Given the description of an element on the screen output the (x, y) to click on. 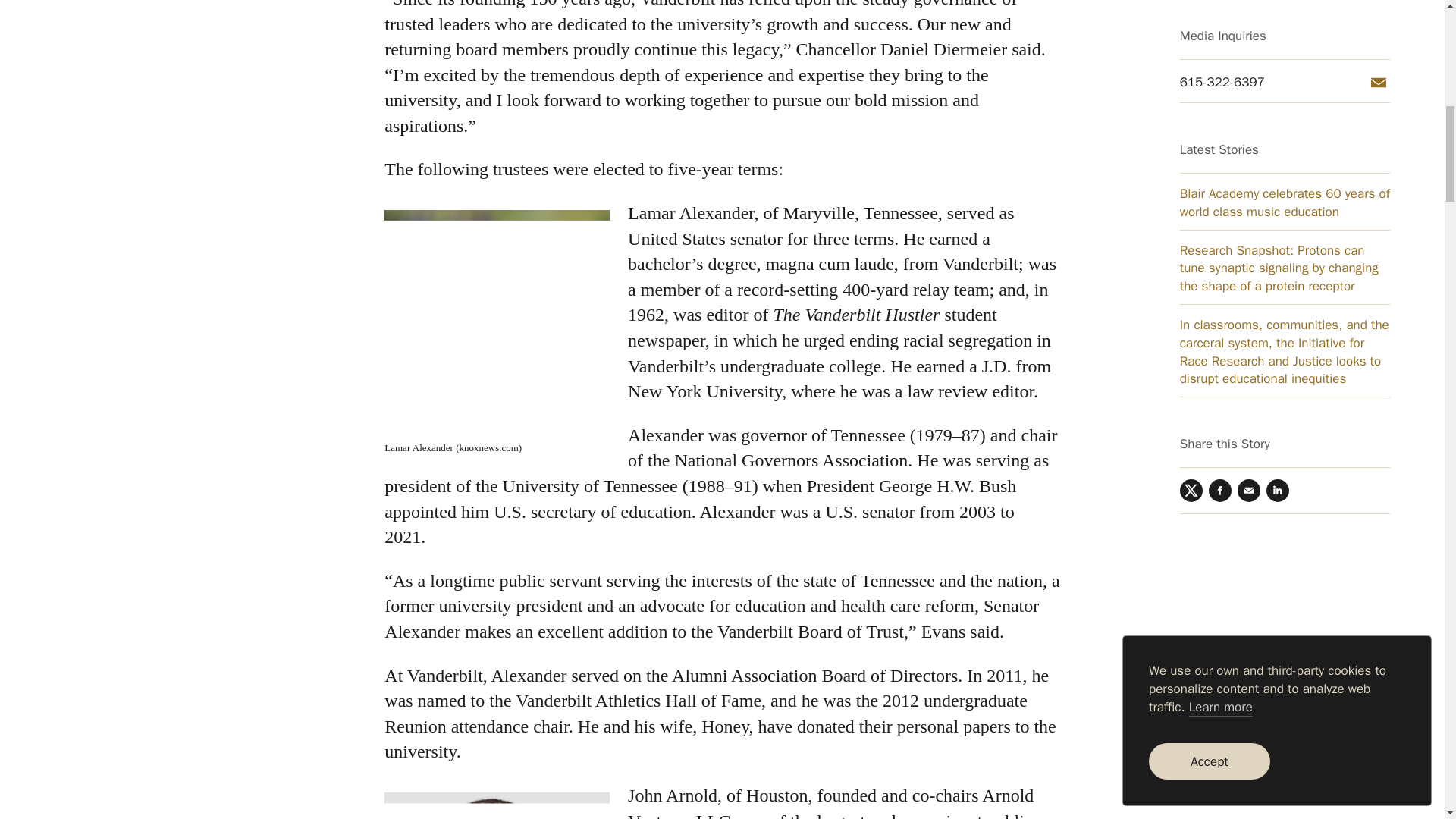
Twitter (1190, 23)
LinkedIn (1277, 23)
Facebook (1219, 23)
Email (1248, 23)
